Given the description of an element on the screen output the (x, y) to click on. 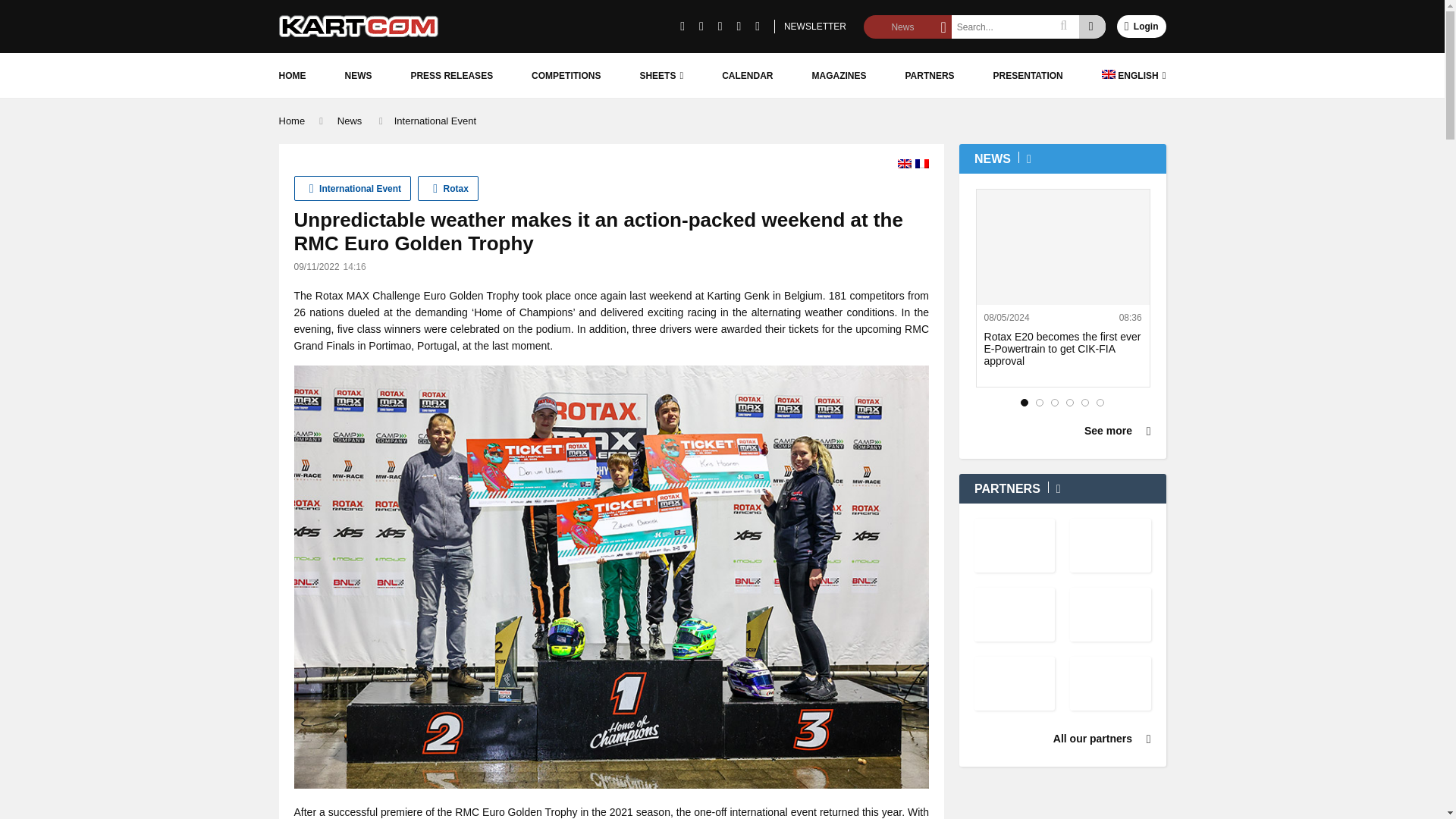
NEWSLETTER (814, 26)
English (1134, 75)
English (904, 163)
Login (1141, 26)
